Given the description of an element on the screen output the (x, y) to click on. 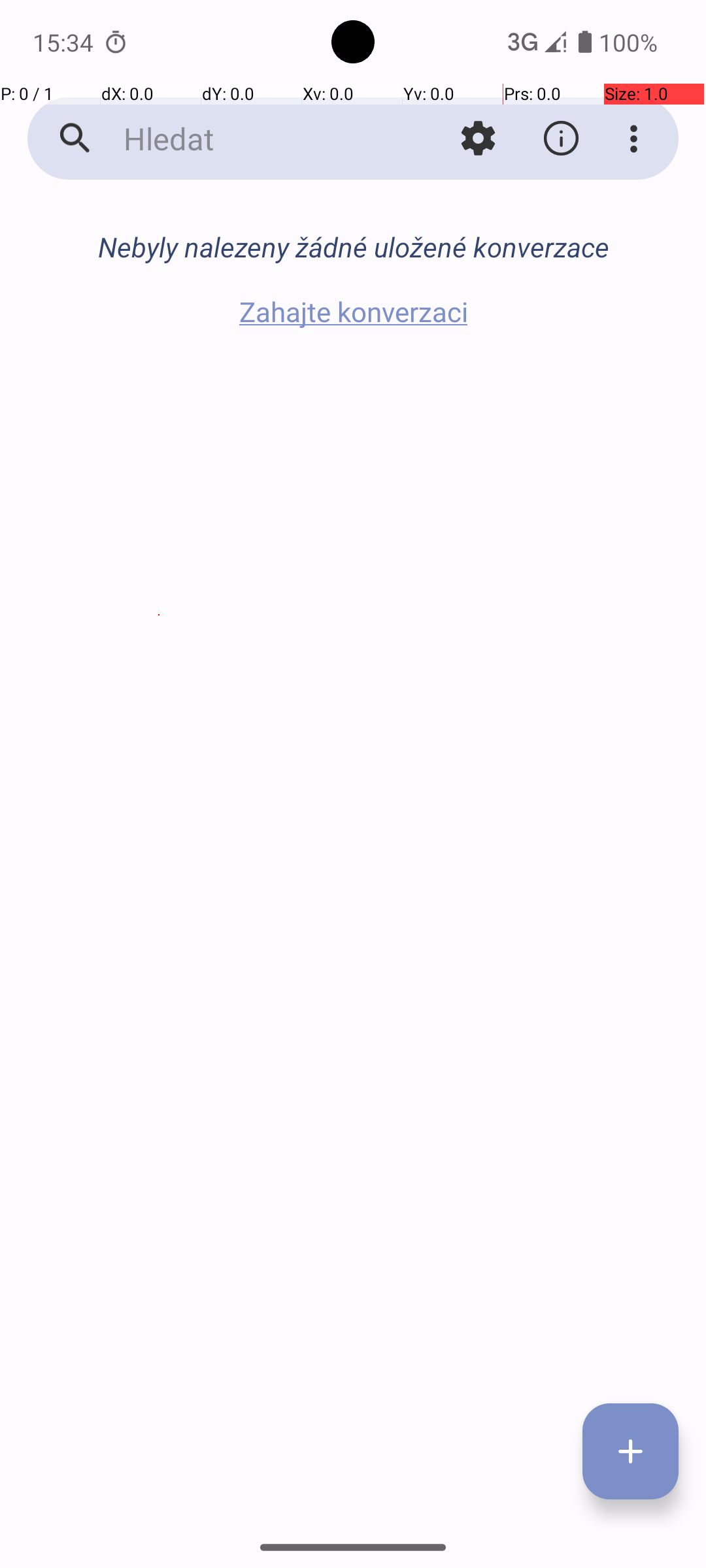
Nebyly nalezeny žádné uložené konverzace Element type: android.widget.TextView (353, 246)
Zahajte konverzaci Element type: android.widget.TextView (352, 311)
